Given the description of an element on the screen output the (x, y) to click on. 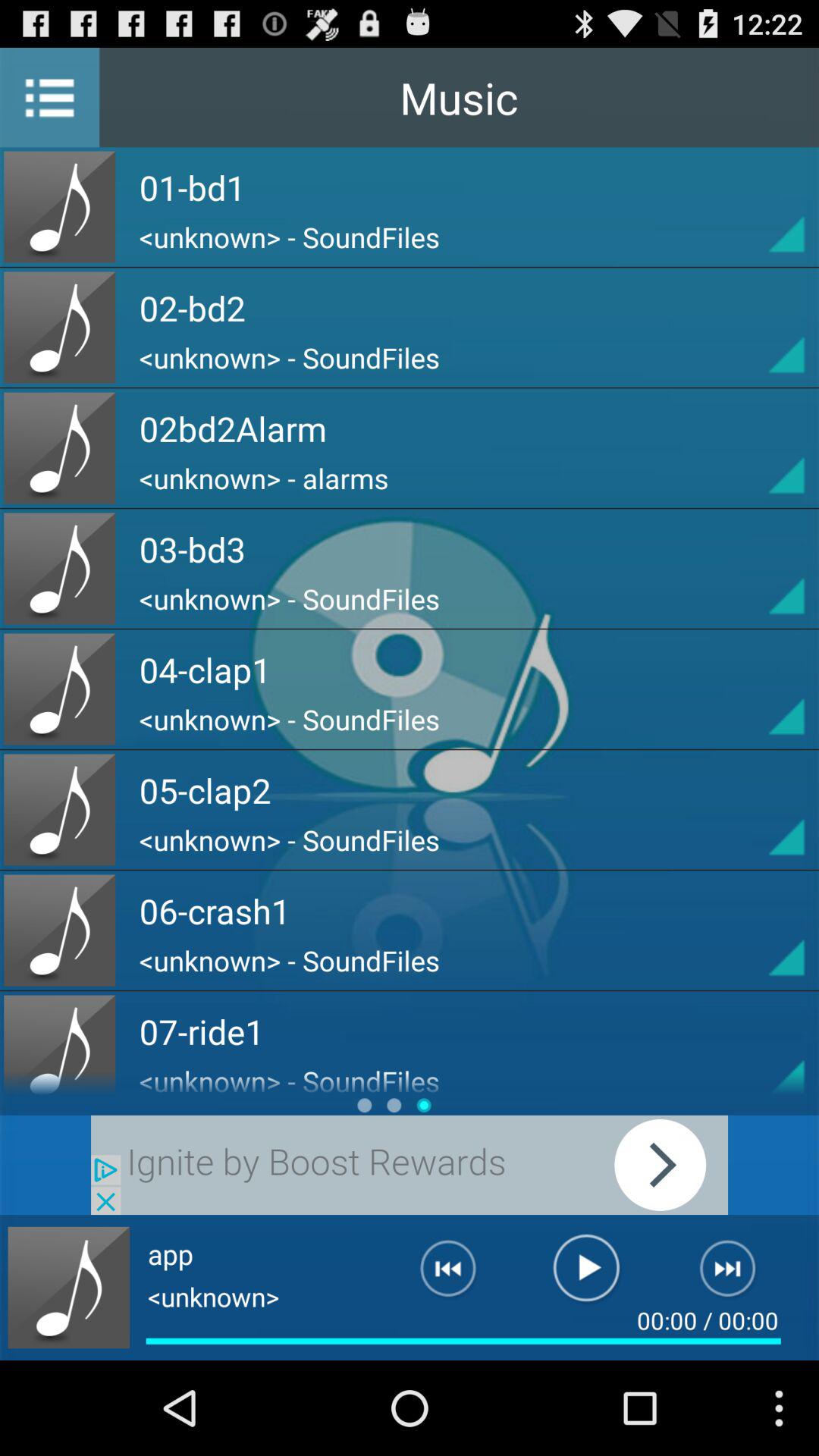
click arrow button (759, 809)
